Given the description of an element on the screen output the (x, y) to click on. 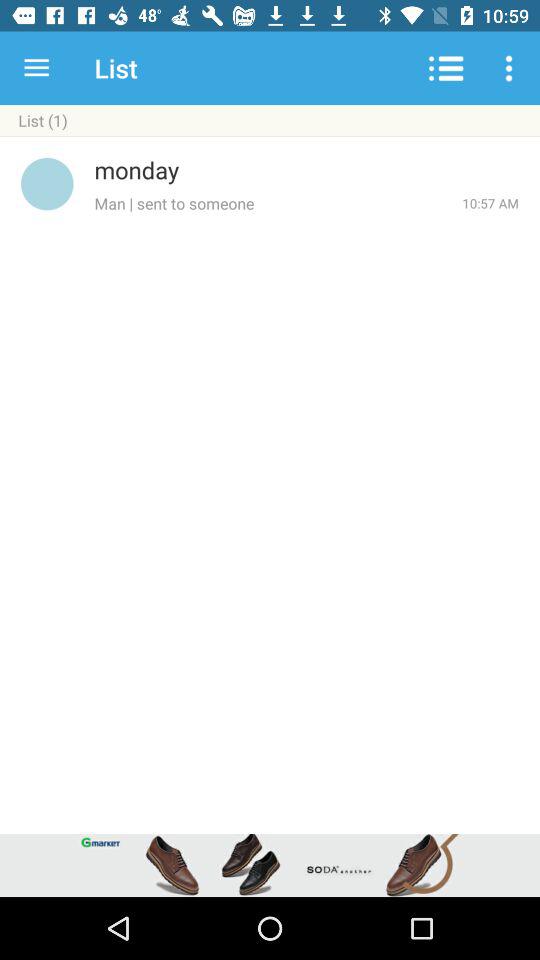
turn on the icon next to the list (36, 68)
